Given the description of an element on the screen output the (x, y) to click on. 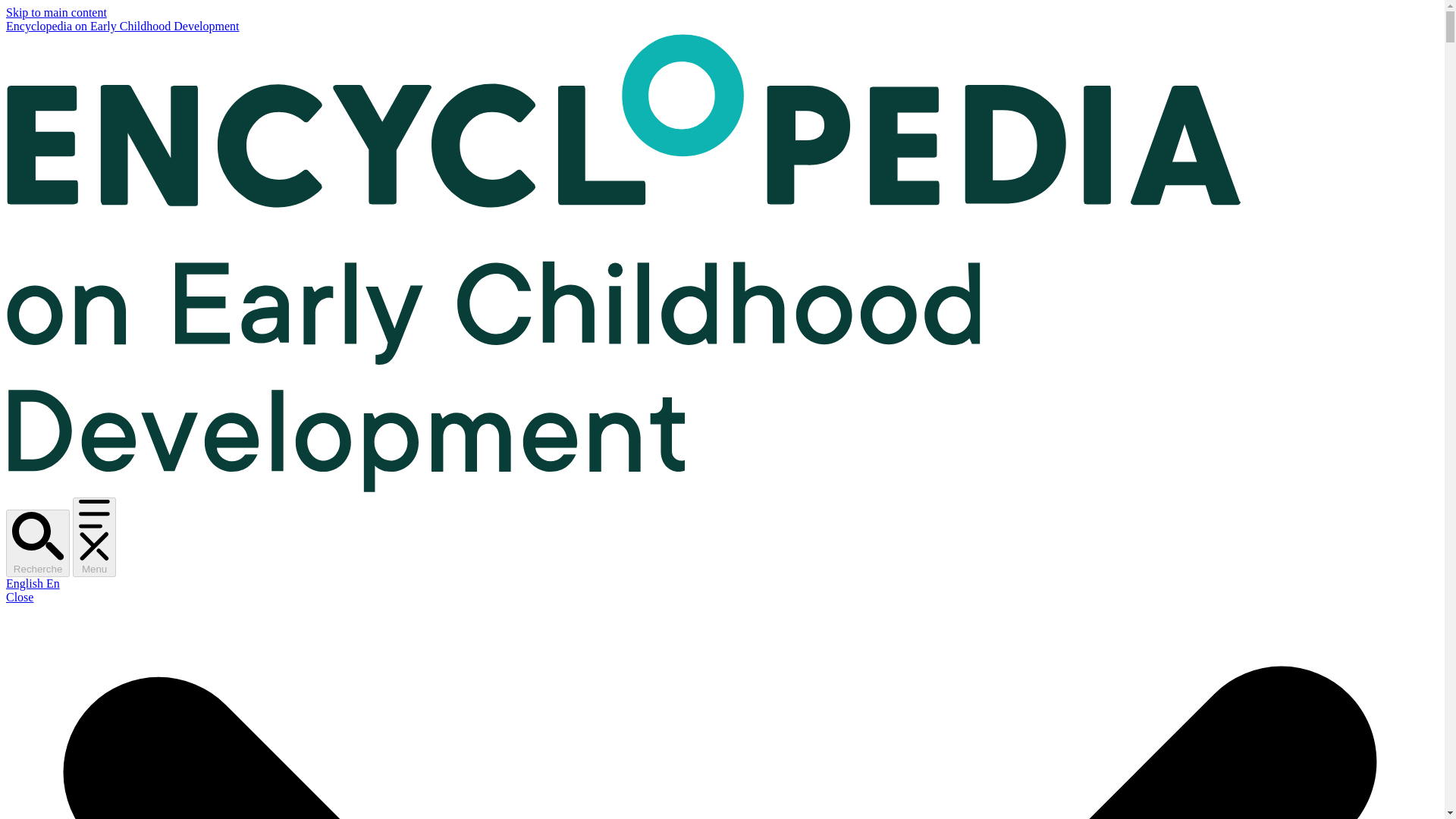
Skip to main content (55, 11)
Recherche (37, 543)
English En (32, 583)
